Given the description of an element on the screen output the (x, y) to click on. 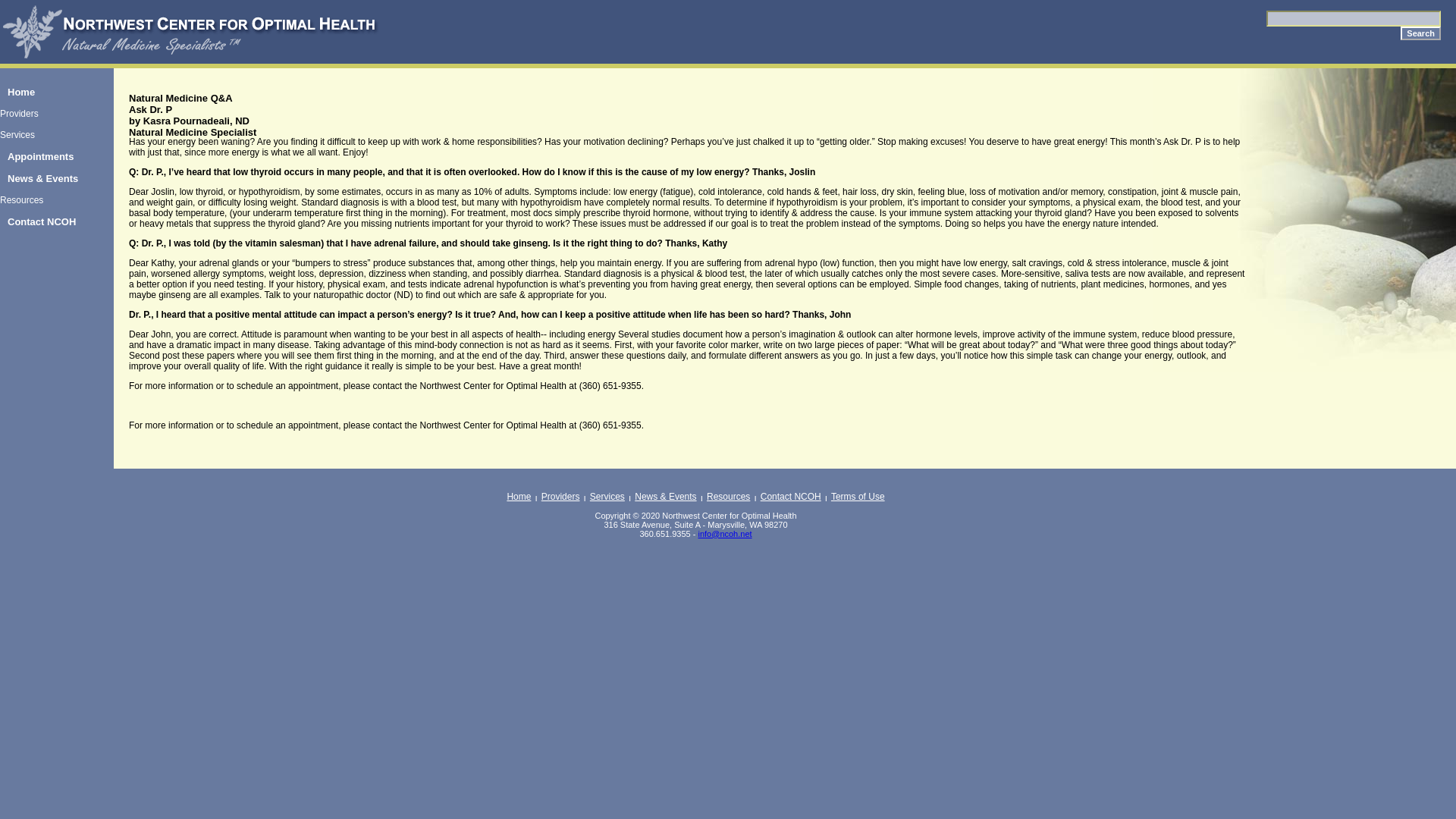
Resources (727, 496)
Search (1420, 33)
Appointments (40, 156)
Home (21, 92)
Services (17, 134)
Resources (21, 199)
Home (21, 92)
Contact NCOH (41, 221)
Appointments (40, 156)
Contact NCOH (790, 496)
